Given the description of an element on the screen output the (x, y) to click on. 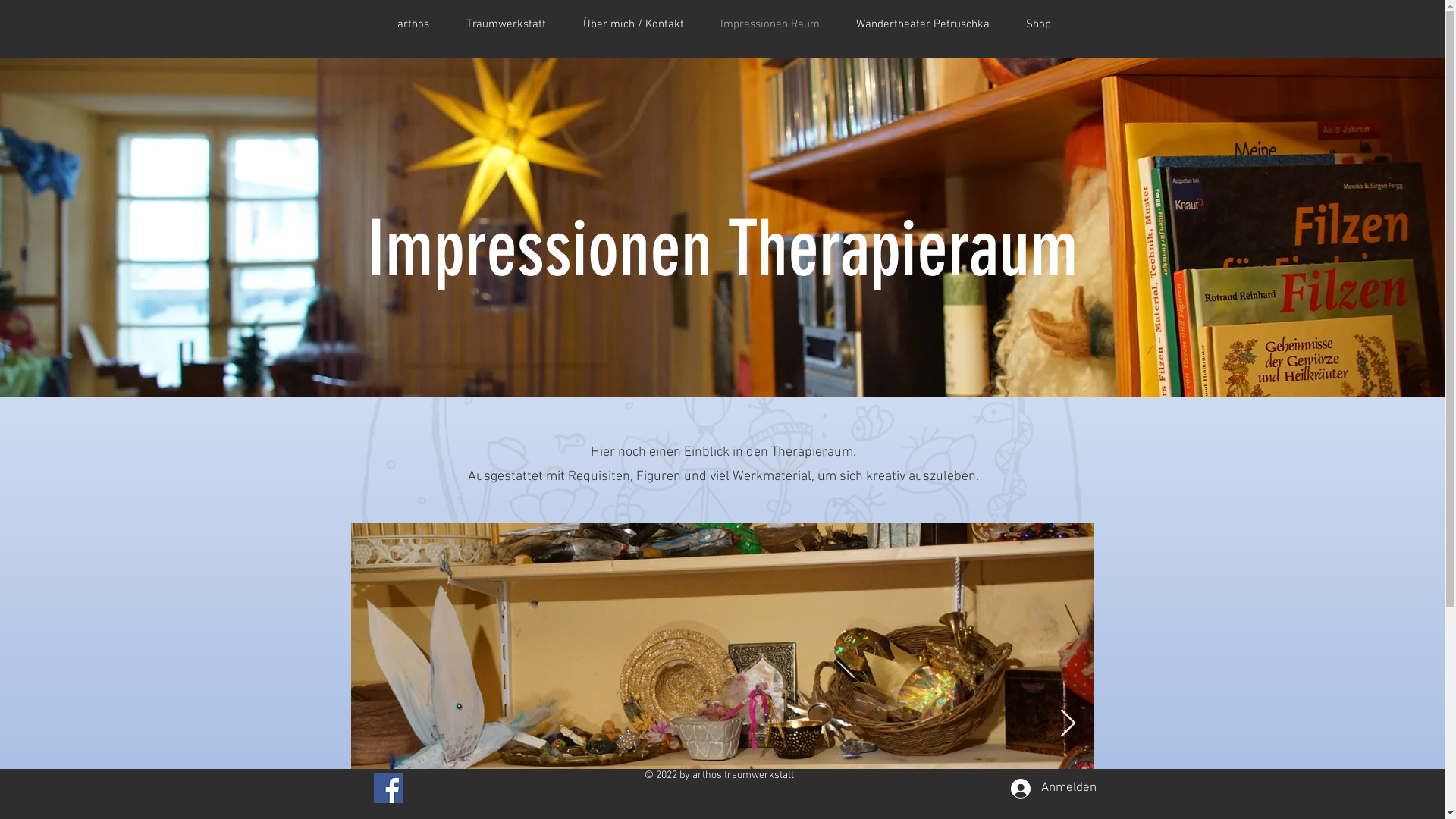
Wandertheater Petruschka Element type: text (922, 24)
Shop Element type: text (1037, 24)
Traumwerkstatt Element type: text (505, 24)
arthos Element type: text (413, 24)
Impressionen Raum Element type: text (769, 24)
Anmelden Element type: text (1044, 788)
